Given the description of an element on the screen output the (x, y) to click on. 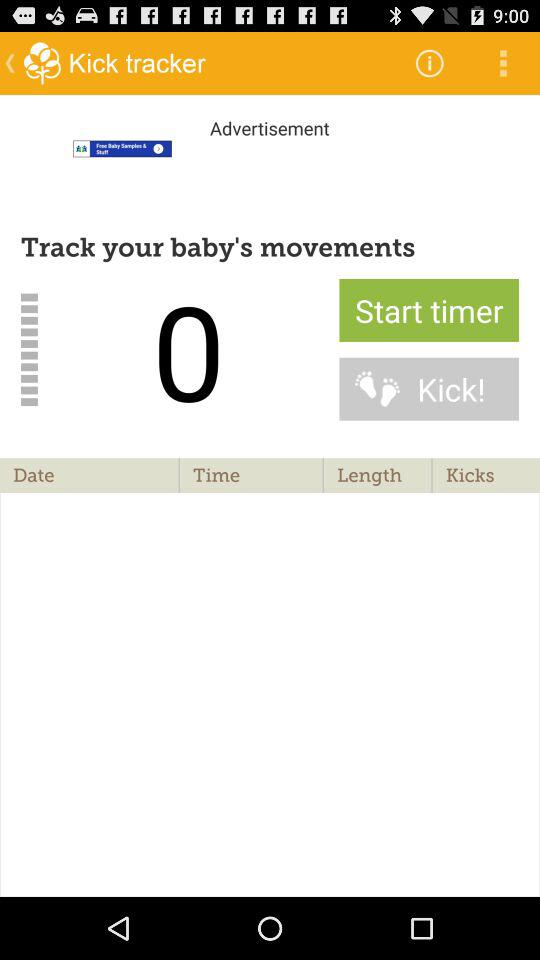
select the three doted option which is right side to the information icon (503, 63)
